Given the description of an element on the screen output the (x, y) to click on. 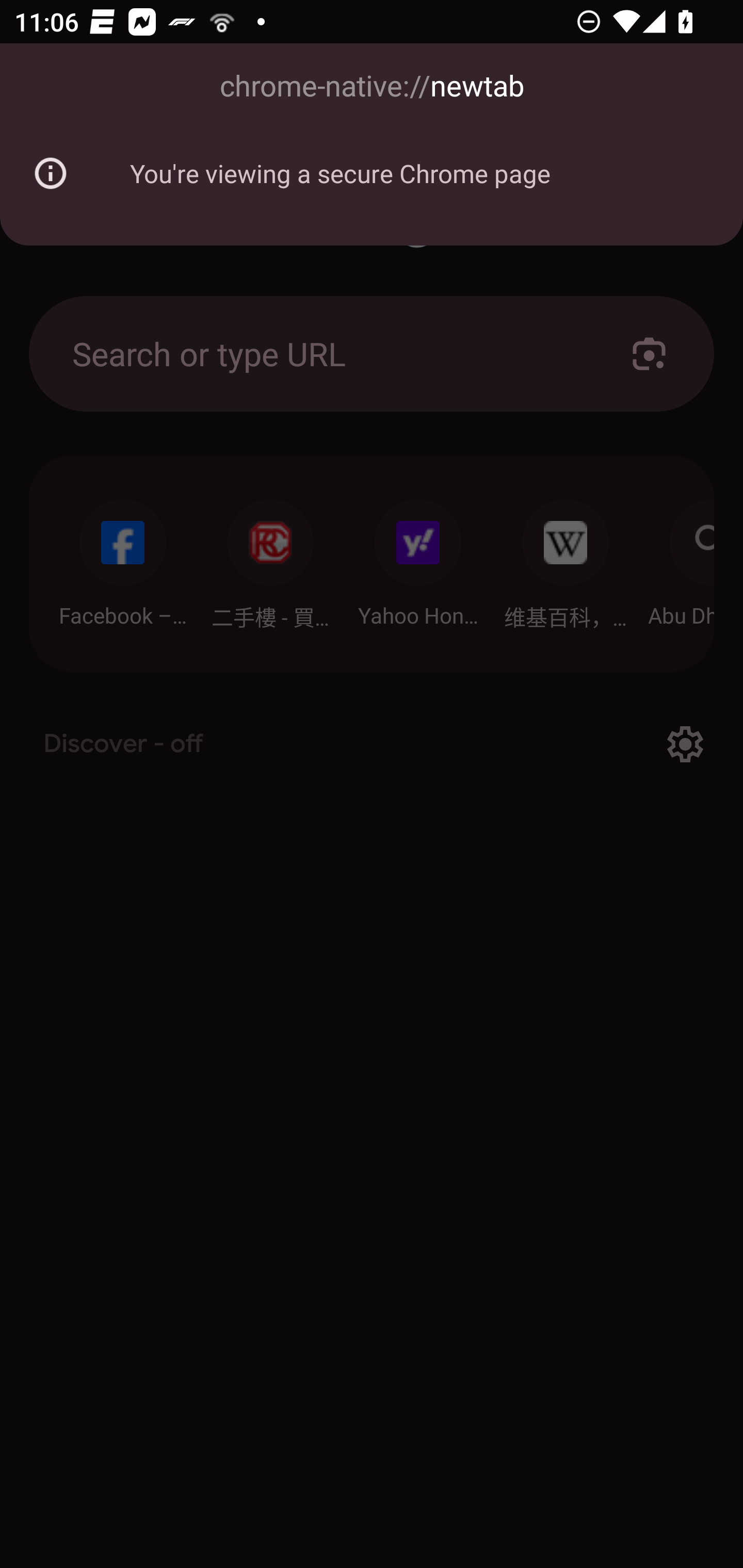
chrome-native://newtab (371, 86)
